Given the description of an element on the screen output the (x, y) to click on. 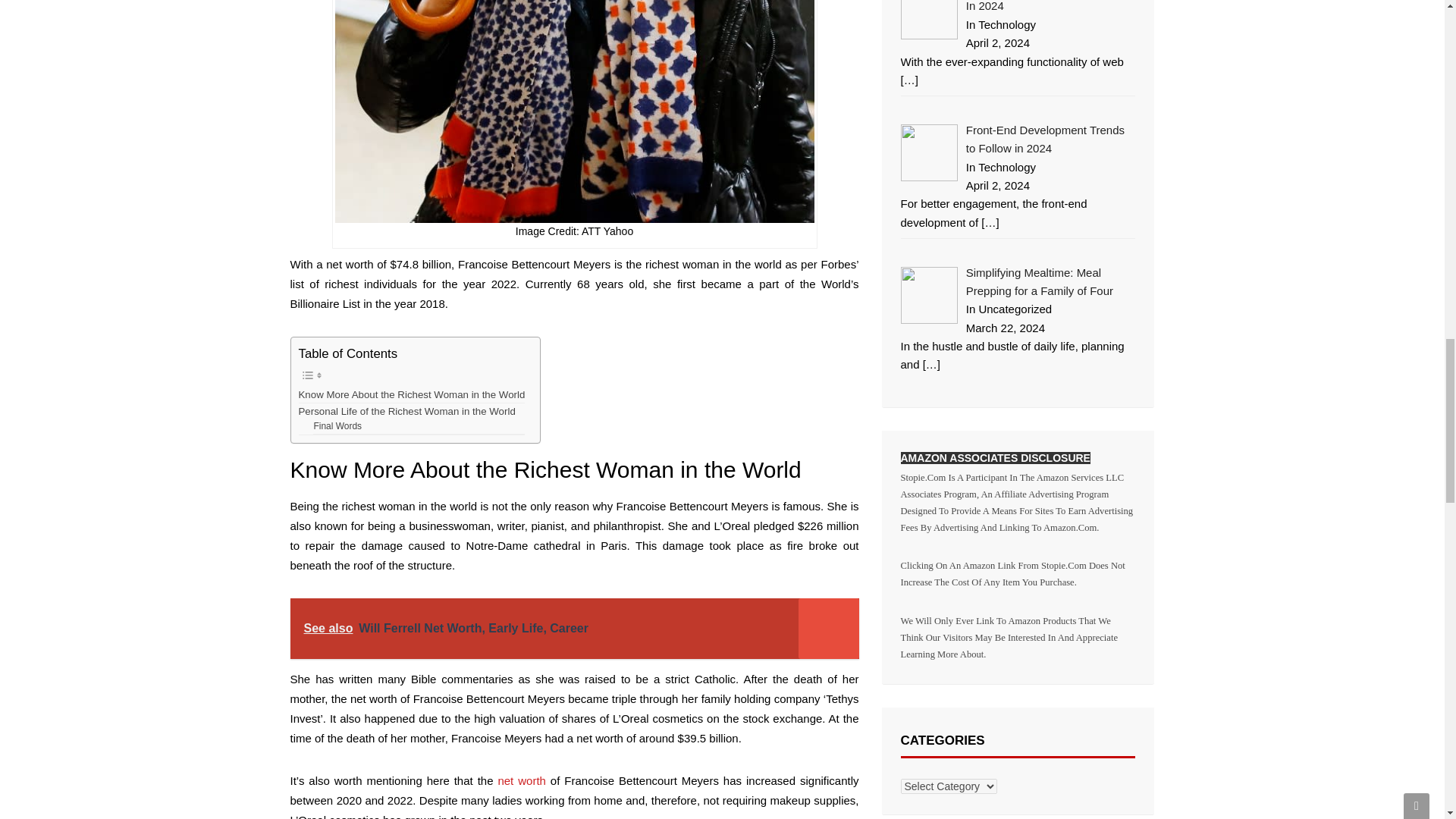
Personal Life of the Richest Woman in the World (406, 411)
Final Words (337, 426)
Know More About the Richest Woman in the World (411, 394)
Know More About the Richest Woman in the World (411, 394)
Personal Life of the Richest Woman in the World (406, 411)
Final Words (337, 426)
See also  Will Ferrell Net Worth, Early Life, Career (574, 628)
net worth (520, 780)
